Given the description of an element on the screen output the (x, y) to click on. 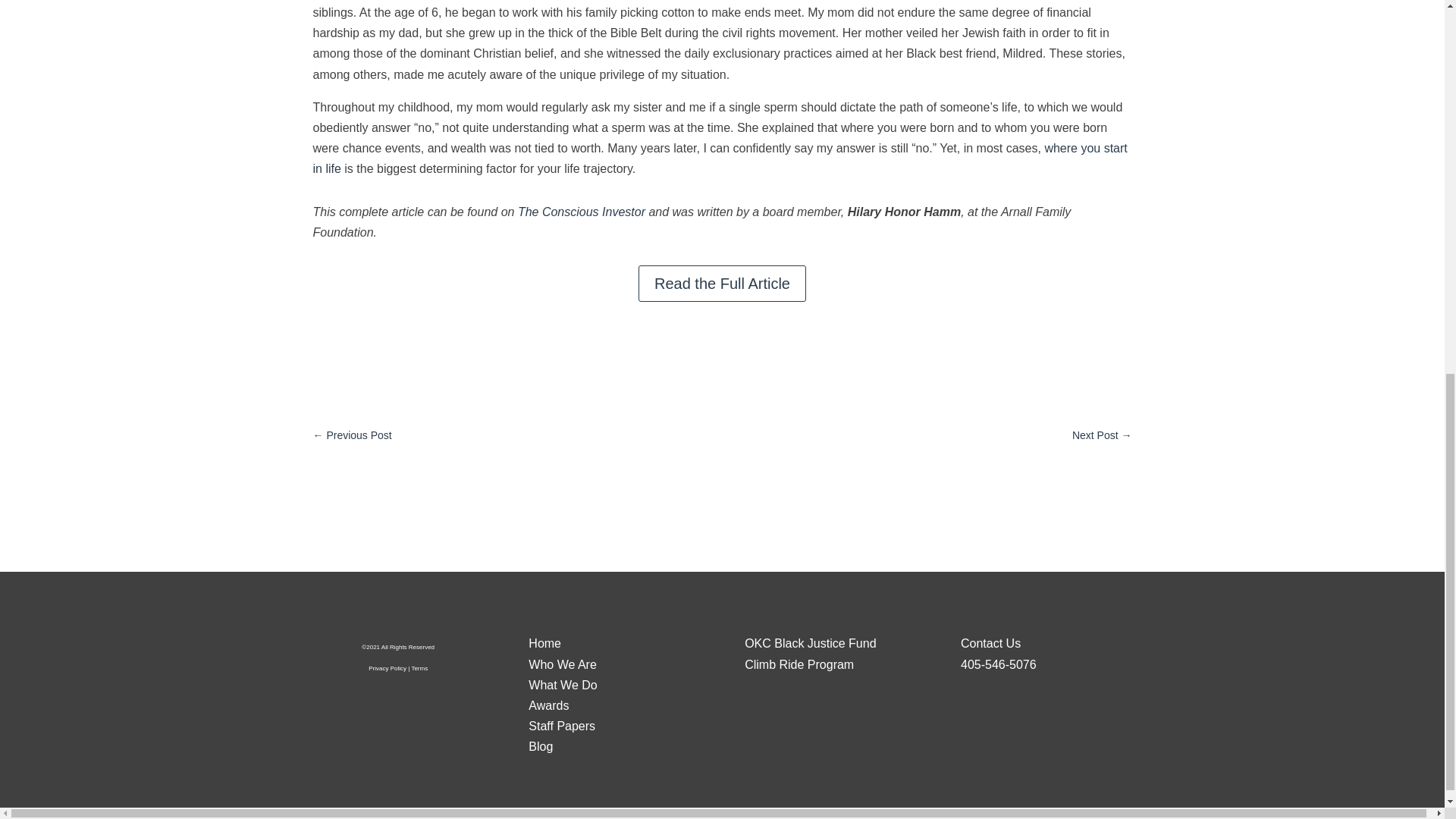
What We Do (562, 684)
Terms (419, 668)
Awards (548, 705)
Contact Us (990, 643)
Read the Full Article (722, 283)
OKC Black Justice Fund (810, 643)
Home (544, 643)
where you start in life (719, 158)
Blog (540, 746)
Privacy Policy (387, 668)
